Given the description of an element on the screen output the (x, y) to click on. 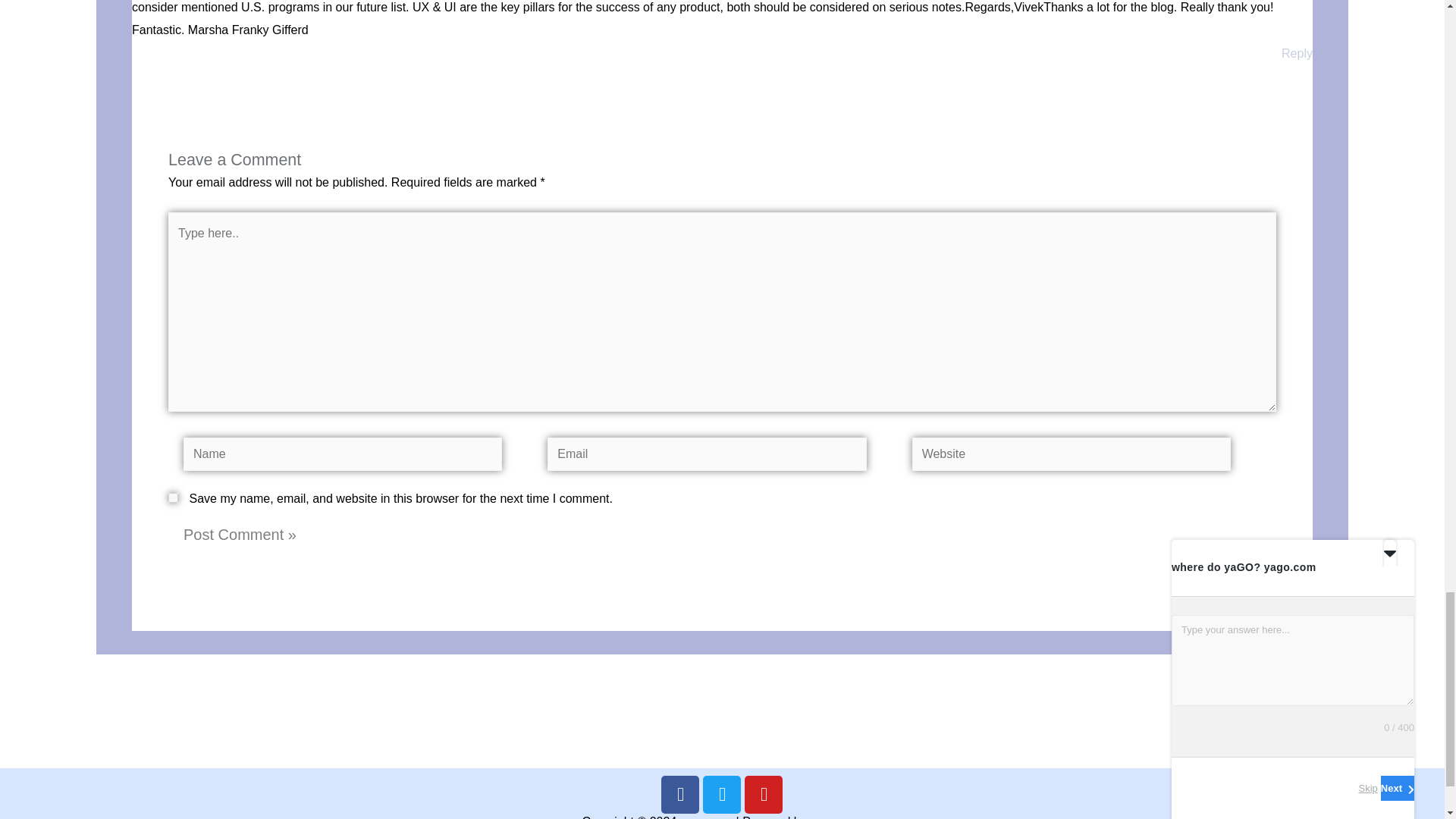
yes (172, 497)
